Given the description of an element on the screen output the (x, y) to click on. 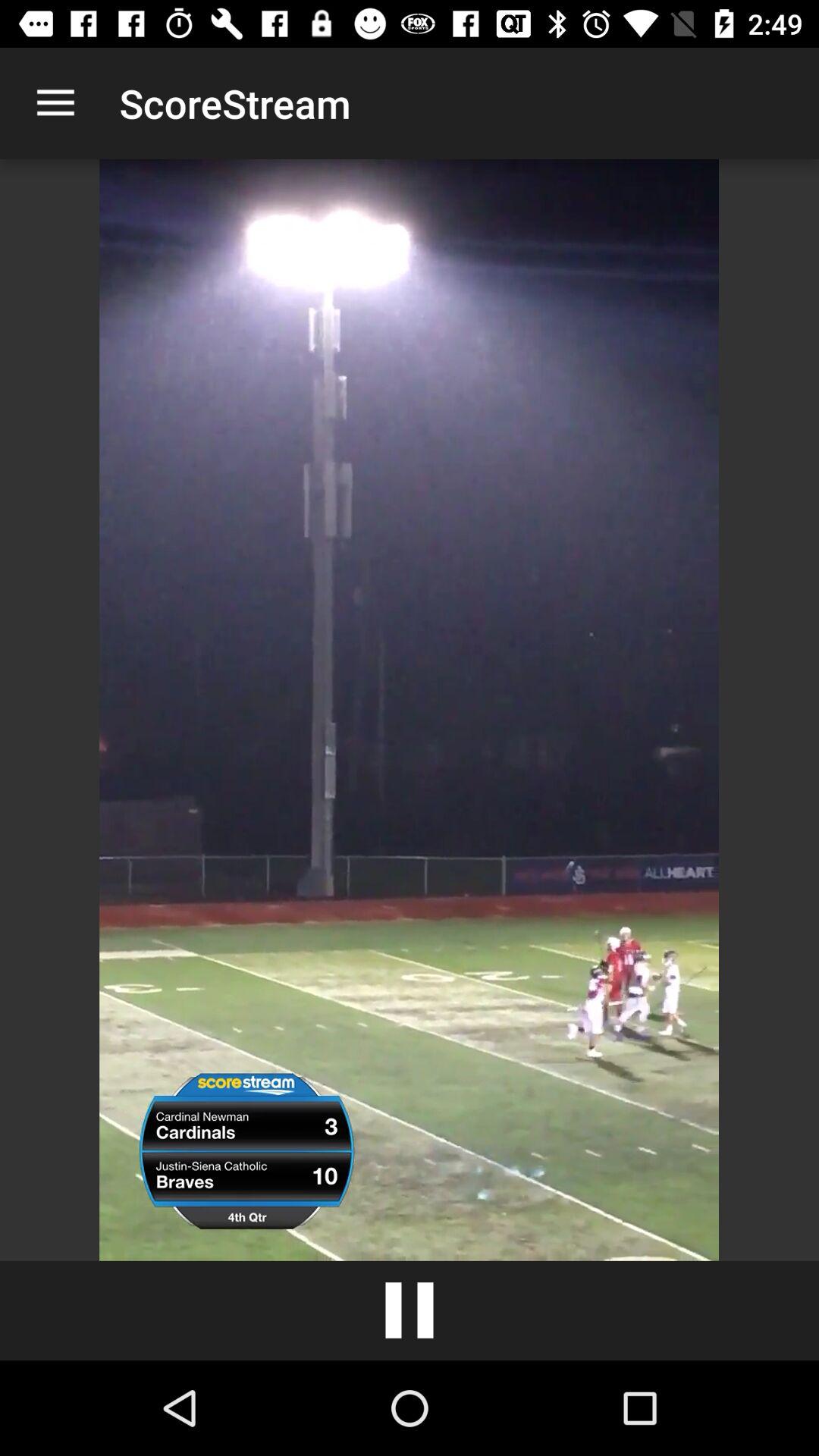
play (409, 1310)
